Given the description of an element on the screen output the (x, y) to click on. 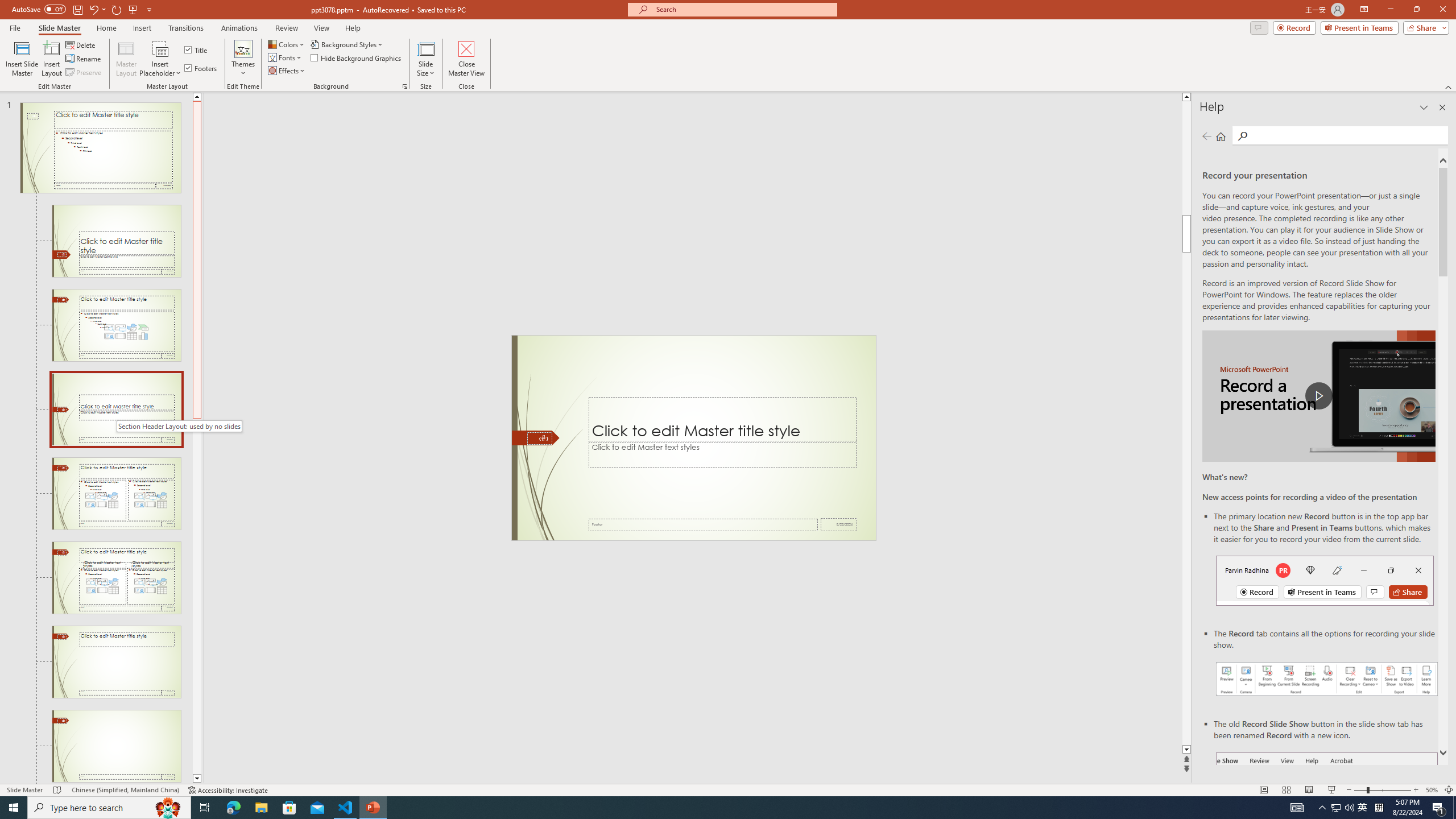
Slide Blank Layout: used by no slides (116, 746)
Effects (287, 69)
TextBox (722, 454)
Close Master View (466, 58)
